Given the description of an element on the screen output the (x, y) to click on. 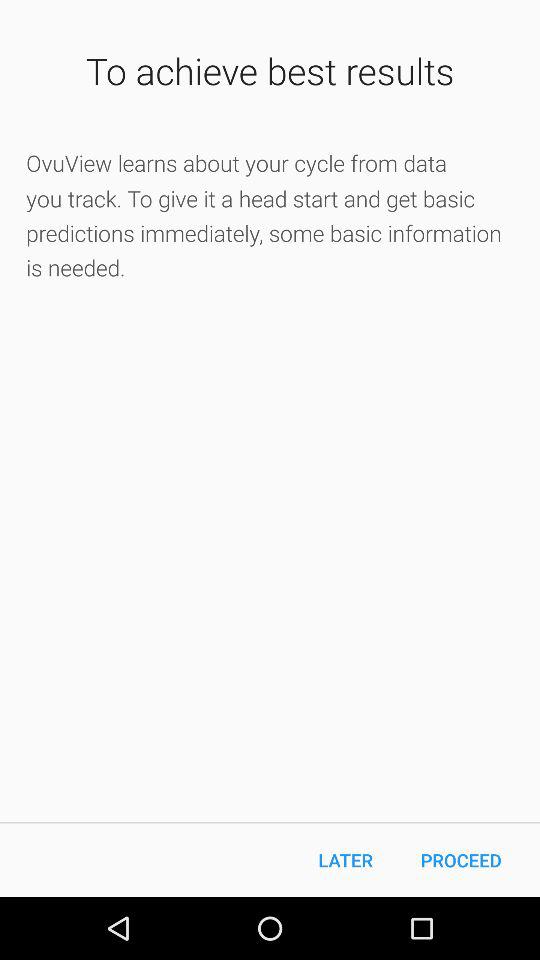
tap proceed item (461, 859)
